Given the description of an element on the screen output the (x, y) to click on. 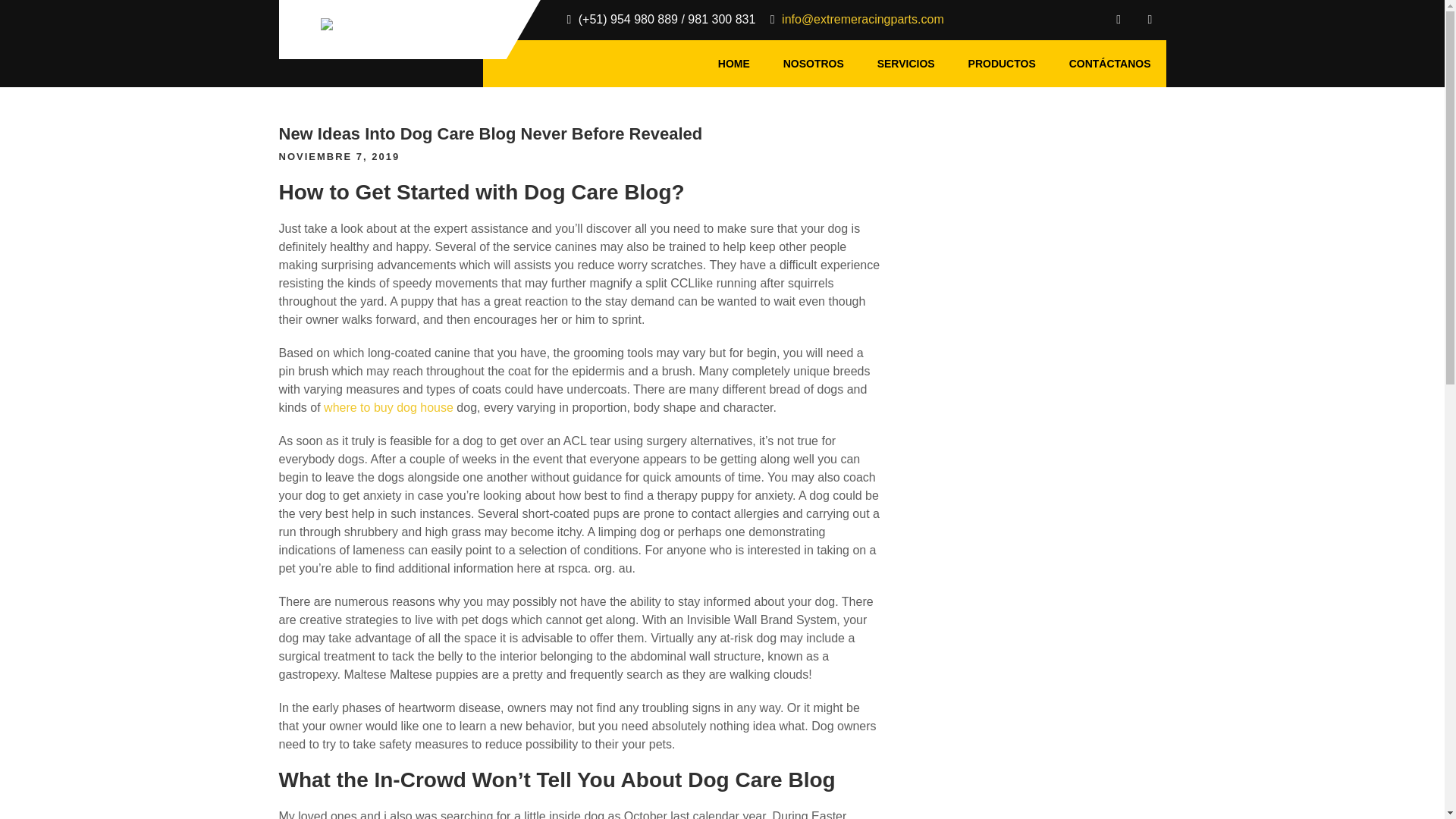
HOME (734, 63)
PRODUCTOS (1002, 63)
Extreme Racing Parts (400, 65)
where to buy dog house (387, 407)
NOSOTROS (813, 63)
SERVICIOS (905, 63)
